Given the description of an element on the screen output the (x, y) to click on. 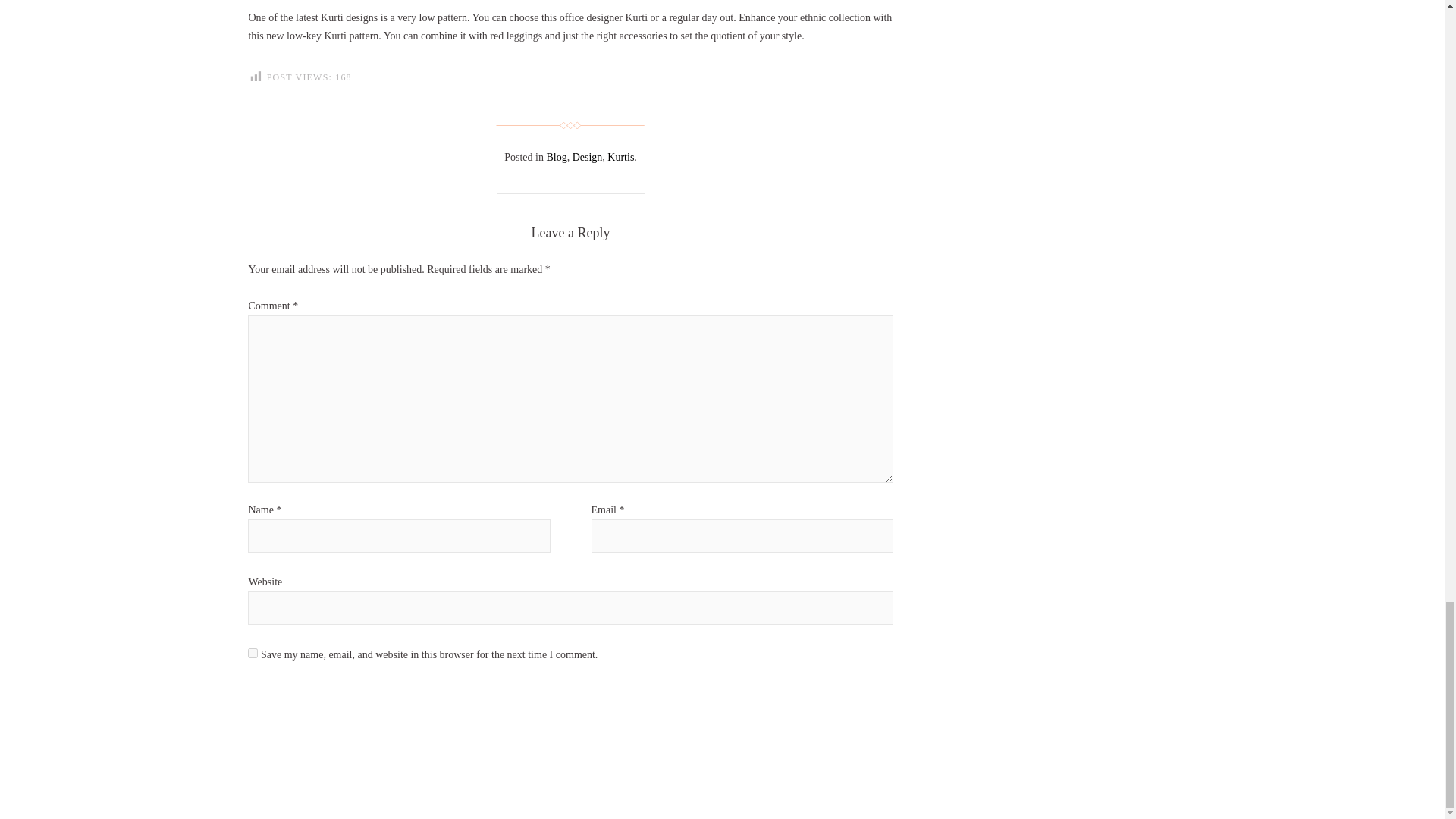
Design (587, 156)
yes (252, 653)
Kurtis (620, 156)
Blog (556, 156)
